Given the description of an element on the screen output the (x, y) to click on. 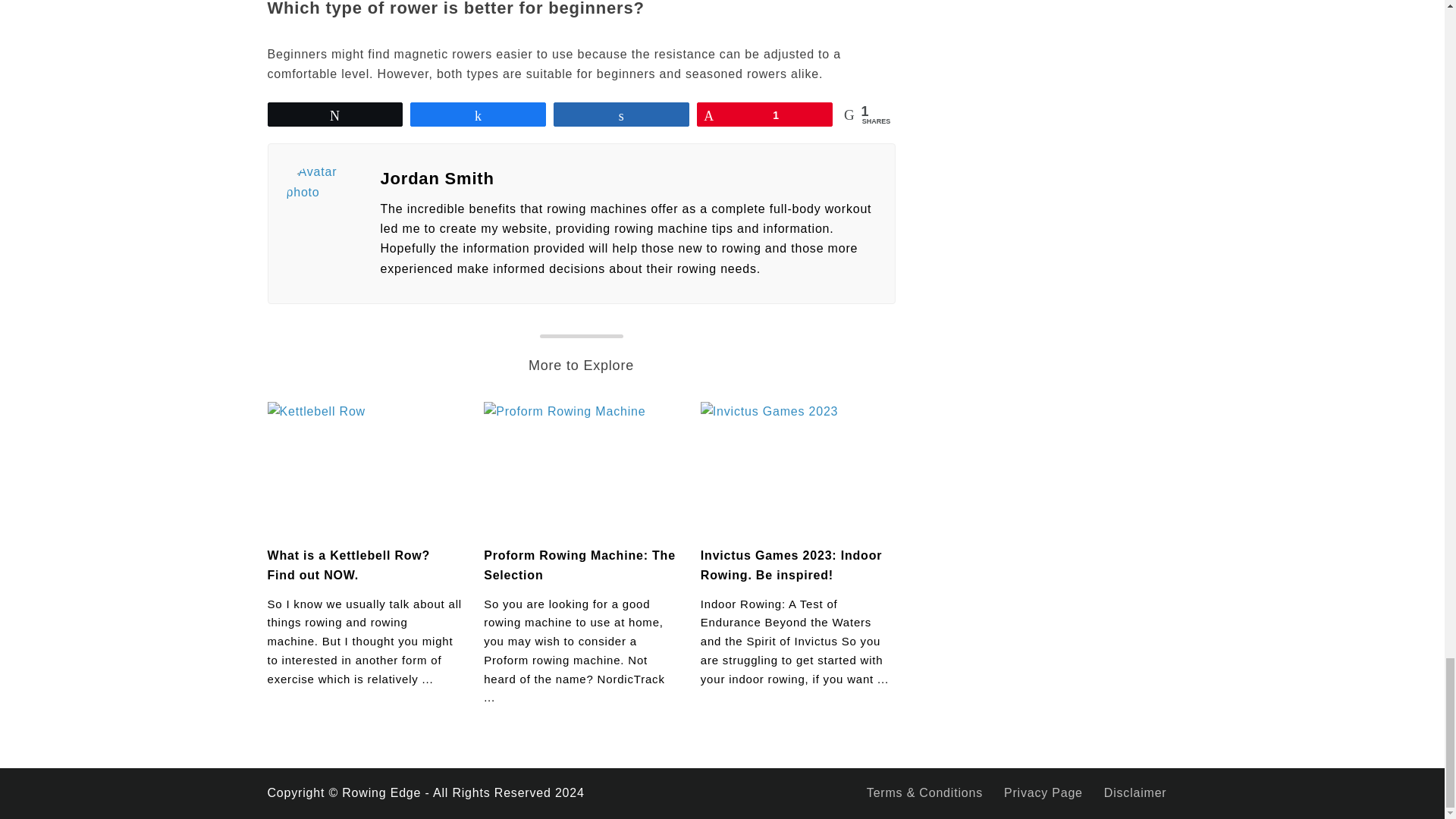
link to What is a Kettlebell Row? Find out NOW. (363, 467)
Disclaimer (1135, 792)
Privacy Page (1043, 792)
Proform Rowing Machine: The Selection (579, 564)
Jordan Smith (628, 178)
Invictus Games 2023: Indoor Rowing. Be inspired! (791, 564)
What is a Kettlebell Row? Find out NOW. (347, 564)
link to Invictus Games 2023: Indoor Rowing. Be inspired! (797, 467)
1 (764, 114)
link to Proform Rowing Machine: The Selection (580, 467)
